Given the description of an element on the screen output the (x, y) to click on. 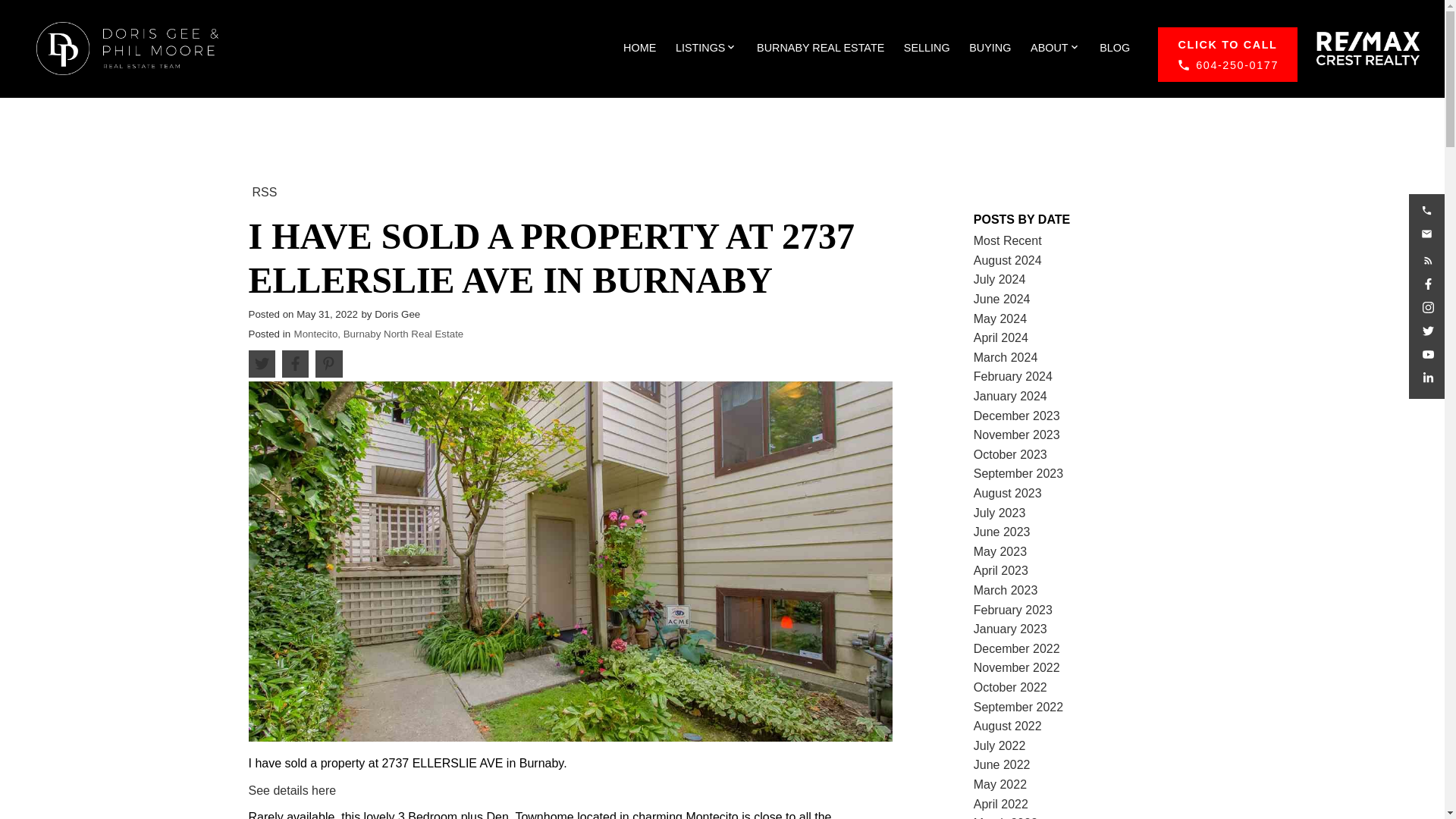
Montecito, Burnaby North Real Estate (379, 333)
SELLING (927, 48)
604-250-0177 (1227, 54)
Most Recent (1008, 240)
See details here (292, 789)
LISTINGS (700, 48)
HOME (639, 48)
BLOG (1114, 48)
August 2024 (1008, 259)
June 2024 (1002, 298)
